Given the description of an element on the screen output the (x, y) to click on. 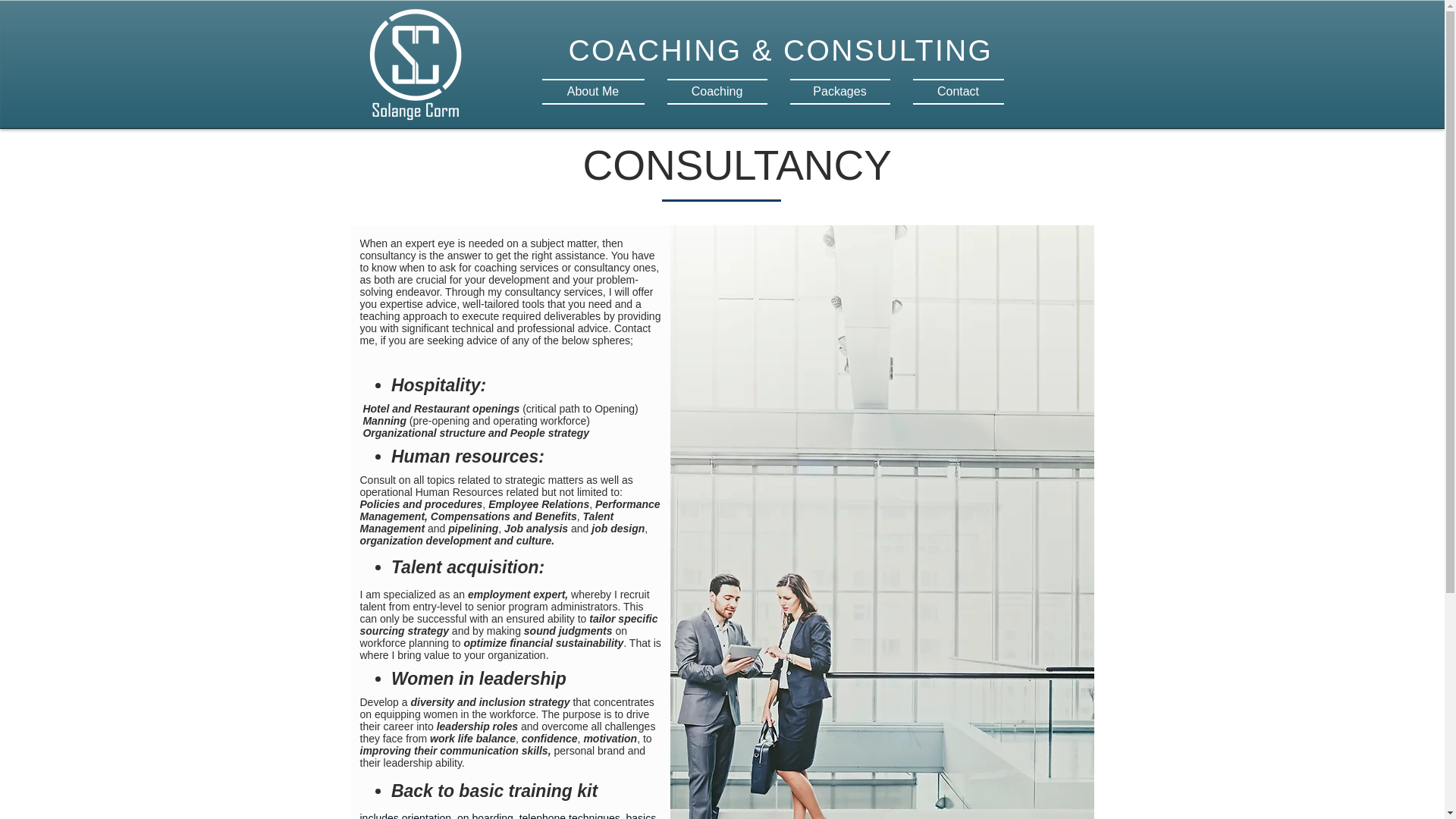
About Me (598, 91)
Coaching (716, 91)
Packages (839, 91)
Contact (952, 91)
